Given the description of an element on the screen output the (x, y) to click on. 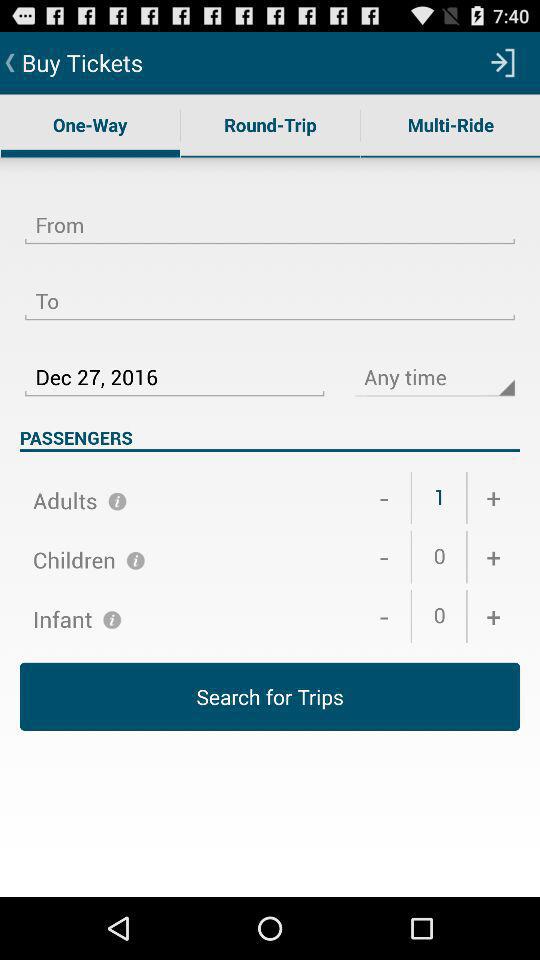
turn on icon above the multi-ride icon (503, 62)
